Given the description of an element on the screen output the (x, y) to click on. 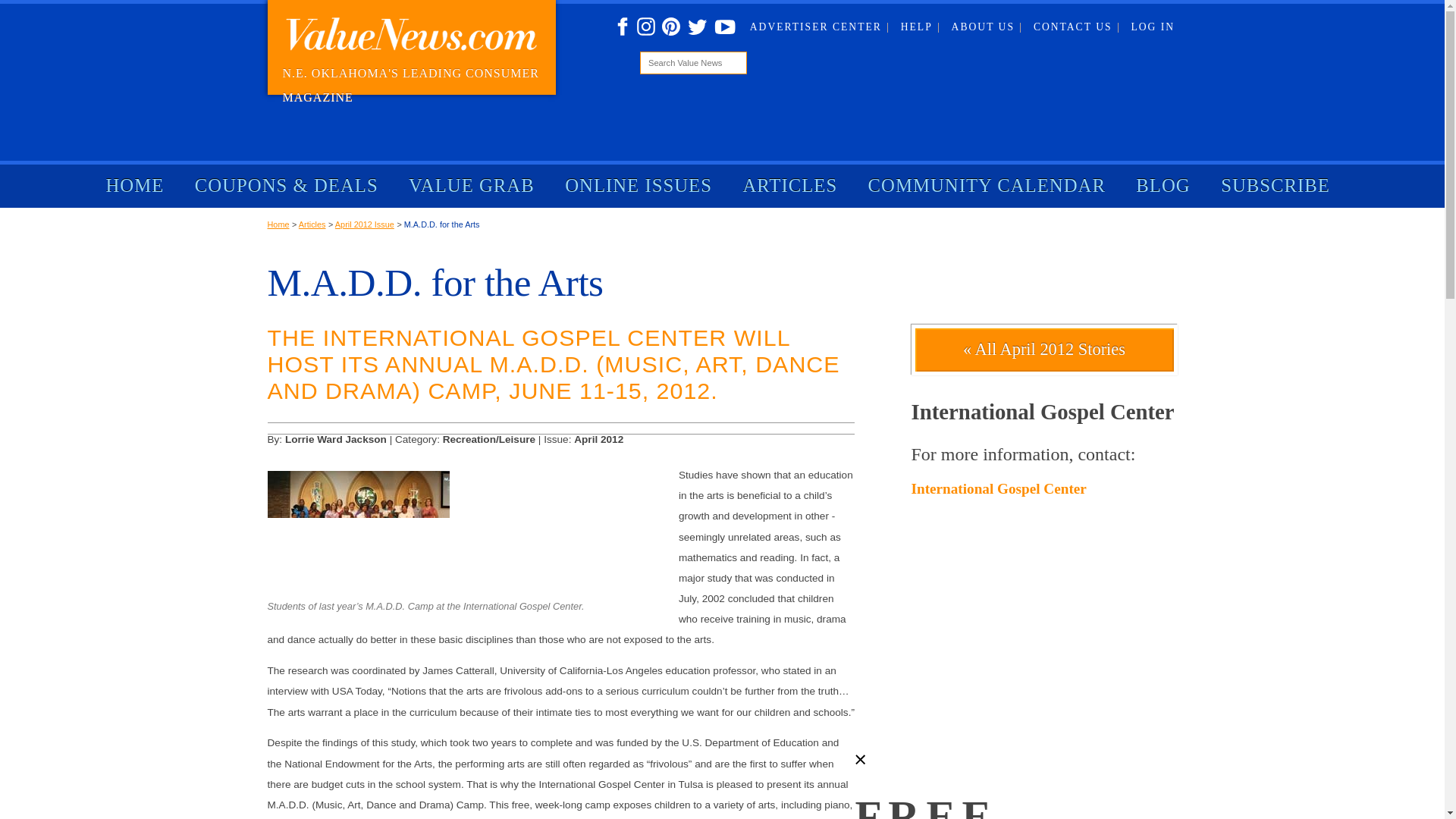
Home (277, 224)
ADVERTISER CENTER (819, 27)
HOME (135, 185)
Log into your Value News account. (1152, 27)
SUBSCRIBE (1275, 185)
ONLINE ISSUES (638, 185)
CONTACT US (1077, 27)
M.A.D.D. for the Arts (442, 224)
ABOUT US (987, 27)
Articles (312, 224)
